Given the description of an element on the screen output the (x, y) to click on. 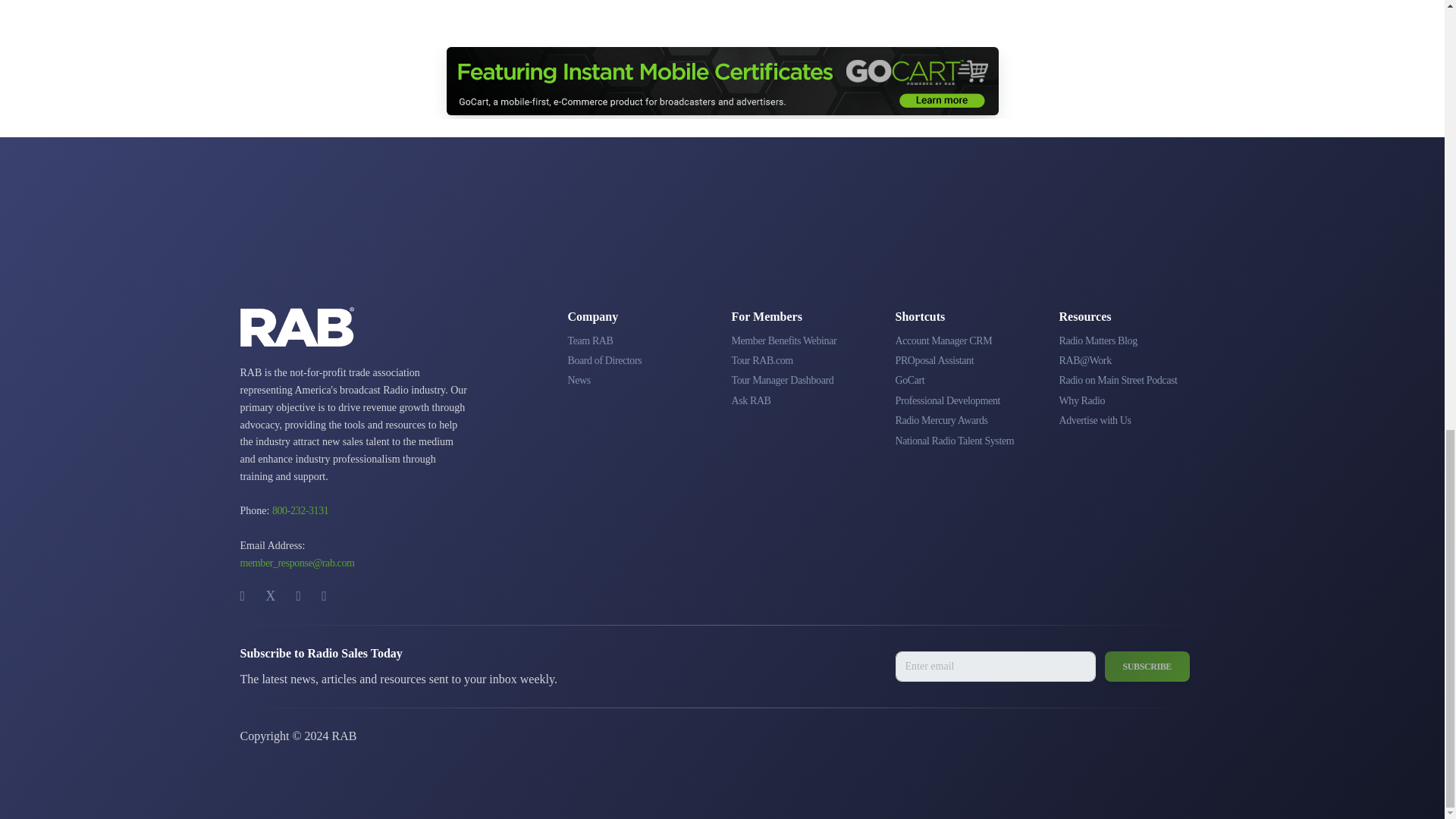
Subscribe (1146, 666)
